Given the description of an element on the screen output the (x, y) to click on. 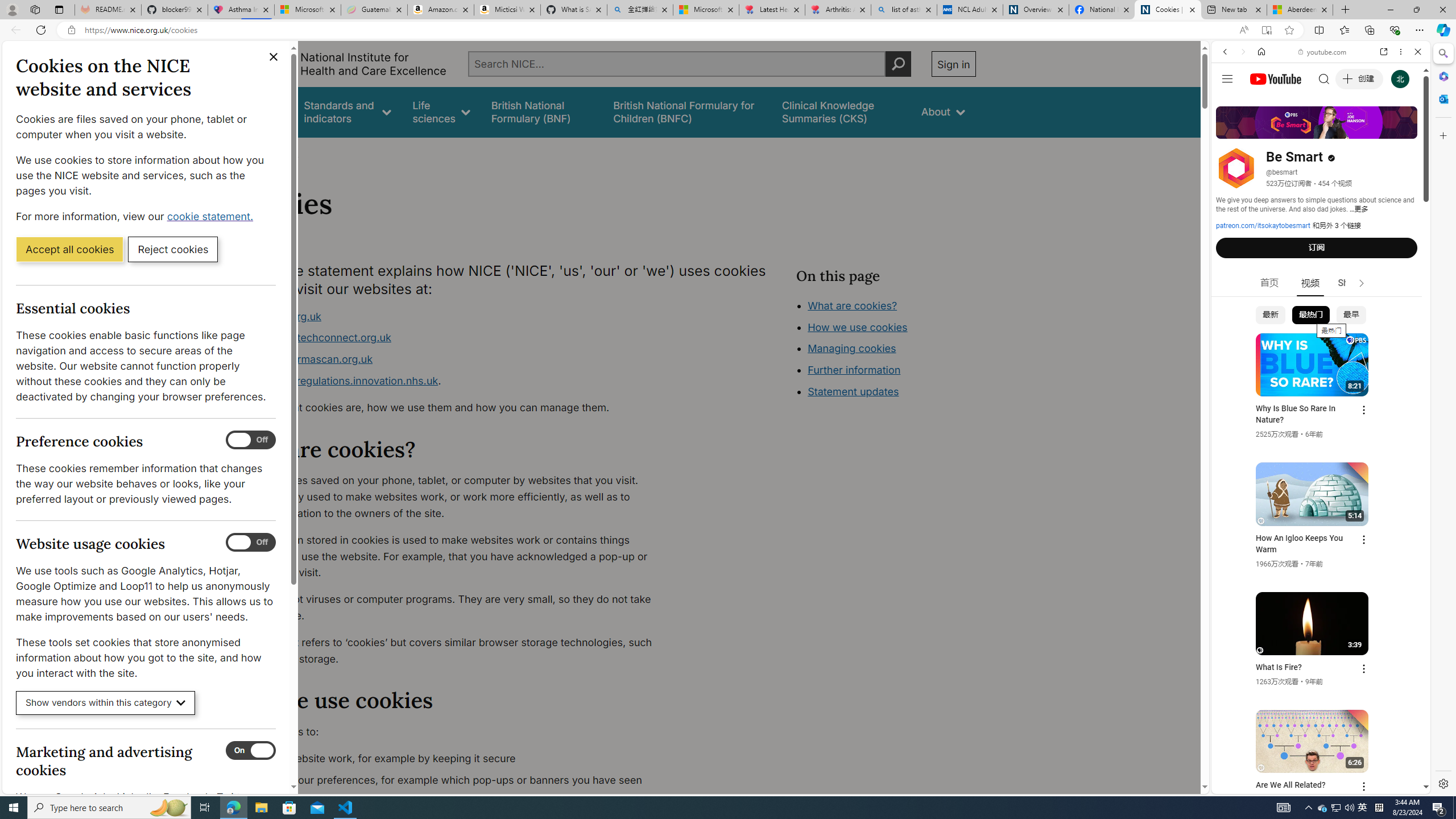
www.ukpharmascan.org.uk (305, 359)
Show More Music (1390, 310)
Music (1320, 309)
www.nice.org.uk (279, 315)
Marketing and advertising cookies (250, 750)
